Given the description of an element on the screen output the (x, y) to click on. 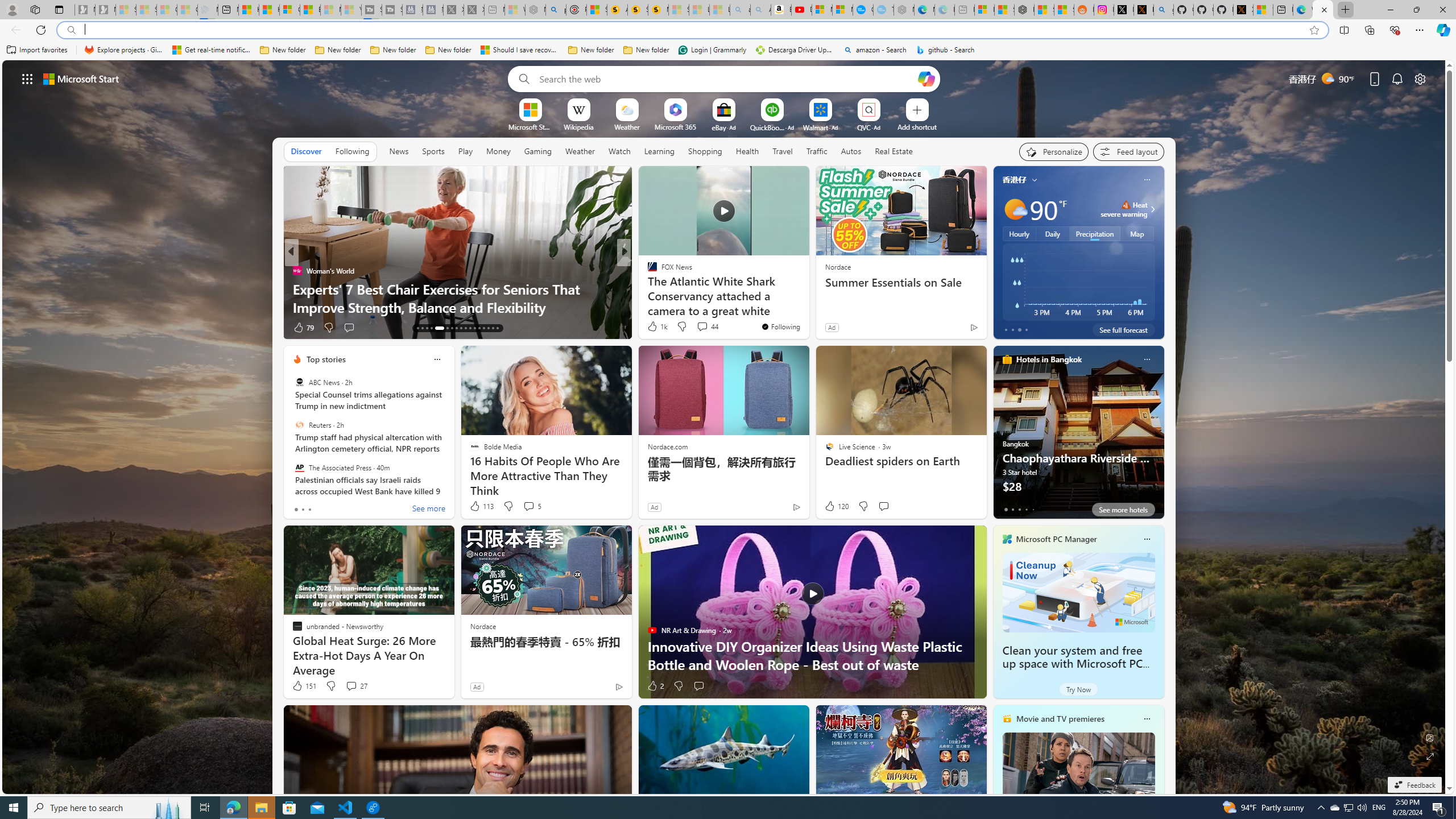
Microsoft 365 (675, 126)
Start the conversation (698, 685)
Enter your search term (726, 78)
More options (1146, 718)
Refresh (40, 29)
Shanghai, China Weather trends | Microsoft Weather (1063, 9)
Play (465, 151)
Microsoft start (81, 78)
View comments 44 Comment (706, 326)
Hourly (1018, 233)
tab-1 (1012, 509)
Personal Profile (12, 9)
AutomationID: tab-20 (456, 328)
Click to see more information (1150, 208)
github - Search (945, 49)
